Given the description of an element on the screen output the (x, y) to click on. 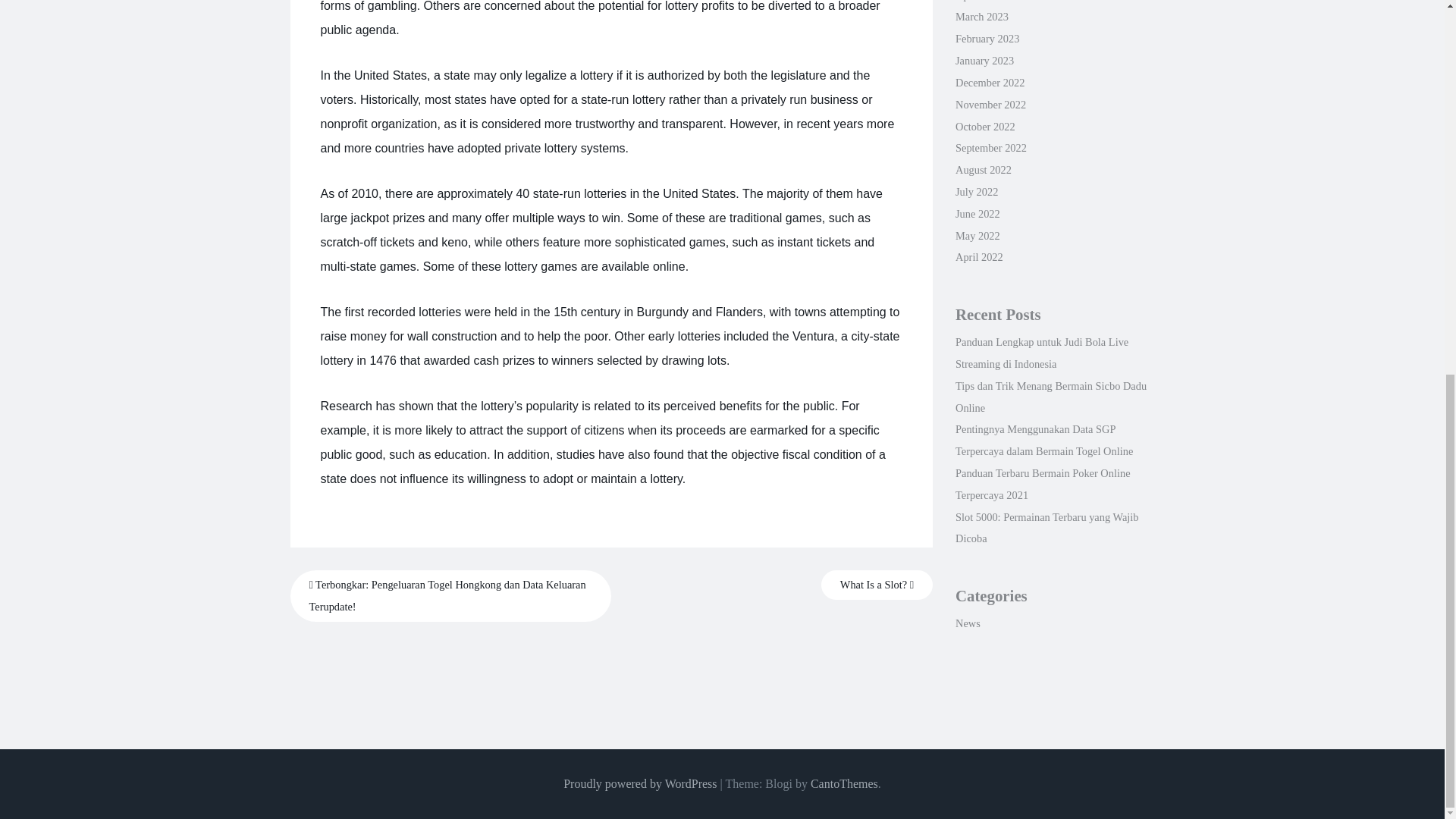
February 2023 (987, 38)
October 2022 (984, 126)
April 2023 (979, 0)
January 2023 (984, 60)
August 2022 (983, 169)
December 2022 (990, 82)
Tips dan Trik Menang Bermain Sicbo Dadu Online (1051, 397)
November 2022 (990, 104)
May 2022 (977, 235)
What Is a Slot? (877, 584)
September 2022 (990, 147)
July 2022 (976, 191)
April 2022 (979, 256)
March 2023 (982, 16)
